Given the description of an element on the screen output the (x, y) to click on. 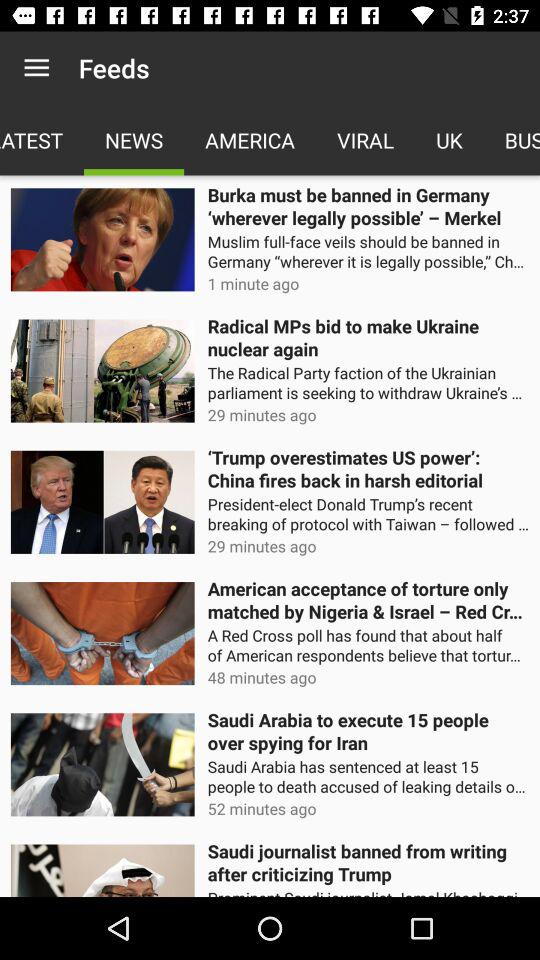
tap item above burka must be icon (365, 140)
